Given the description of an element on the screen output the (x, y) to click on. 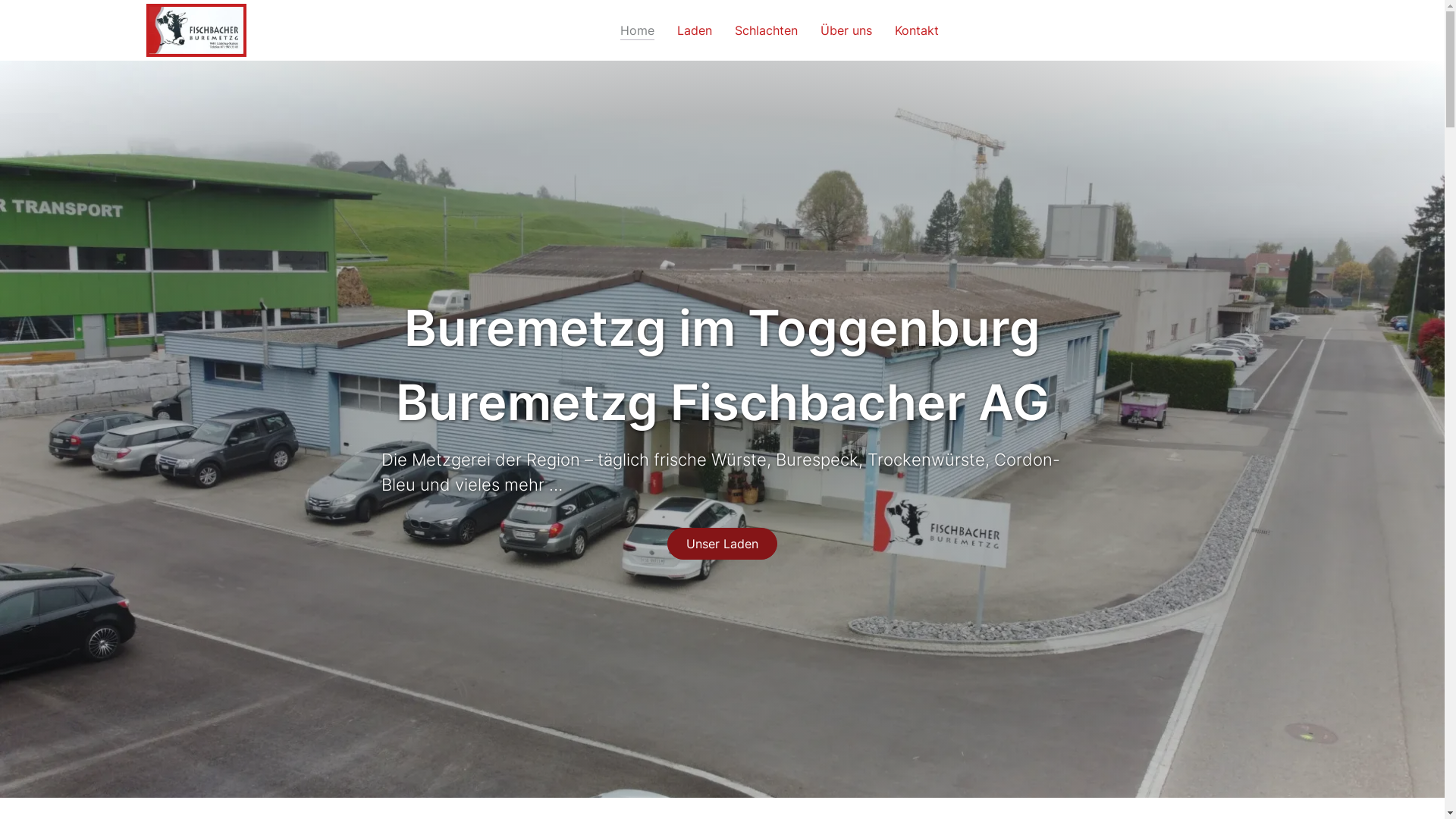
Home Element type: text (637, 30)
Kontakt Element type: text (916, 30)
Schlachten Element type: text (765, 30)
Laden Element type: text (694, 30)
Unser Laden Element type: text (722, 543)
